Given the description of an element on the screen output the (x, y) to click on. 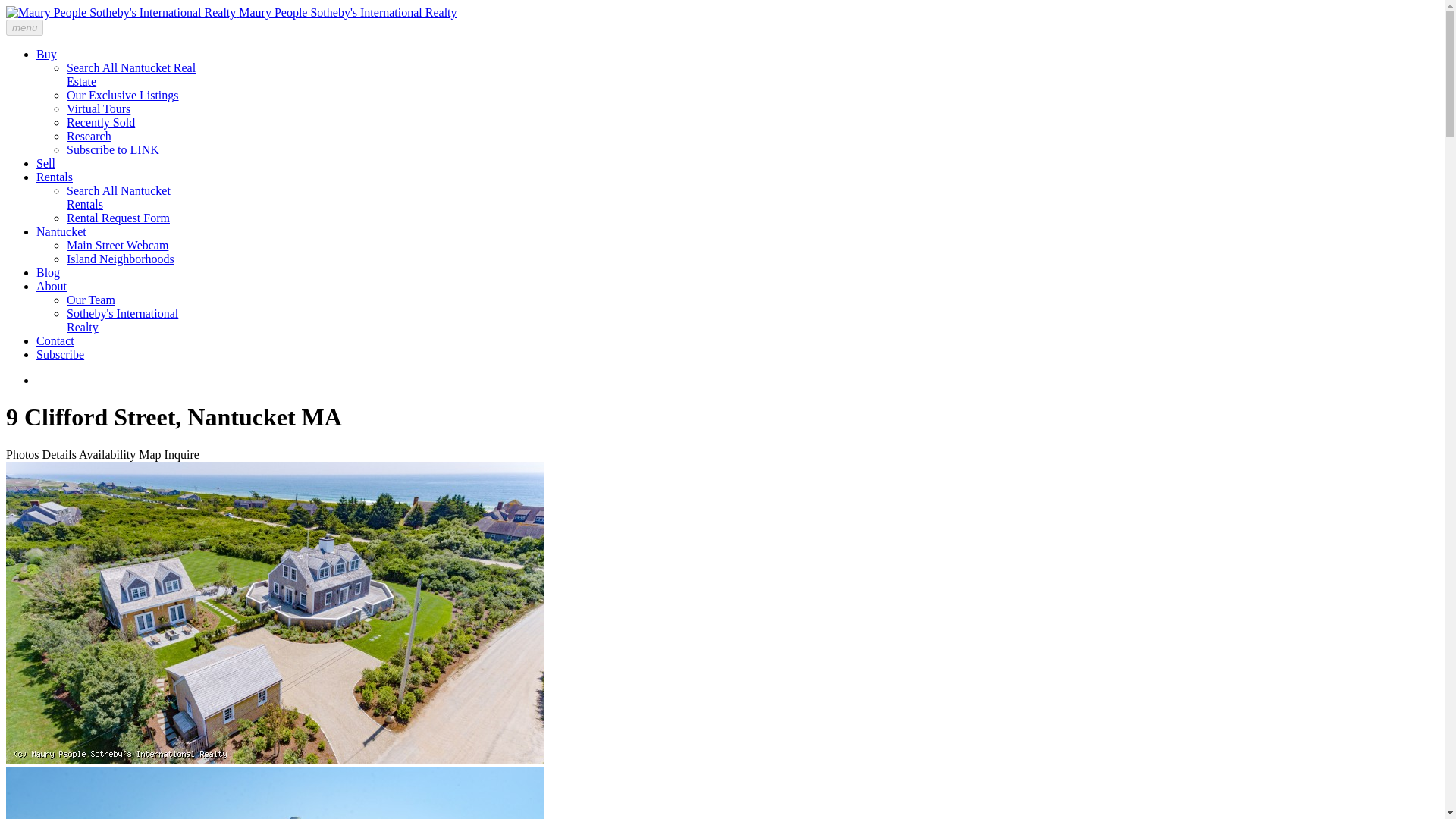
Our Exclusive Listings (122, 94)
Nantucket (60, 231)
Sotheby's International Realty (121, 320)
About (51, 286)
Availability (106, 454)
Details (59, 454)
Search All Nantucket Rentals (118, 197)
Subscribe to LINK (112, 149)
Rentals (54, 176)
Research (89, 135)
